Given the description of an element on the screen output the (x, y) to click on. 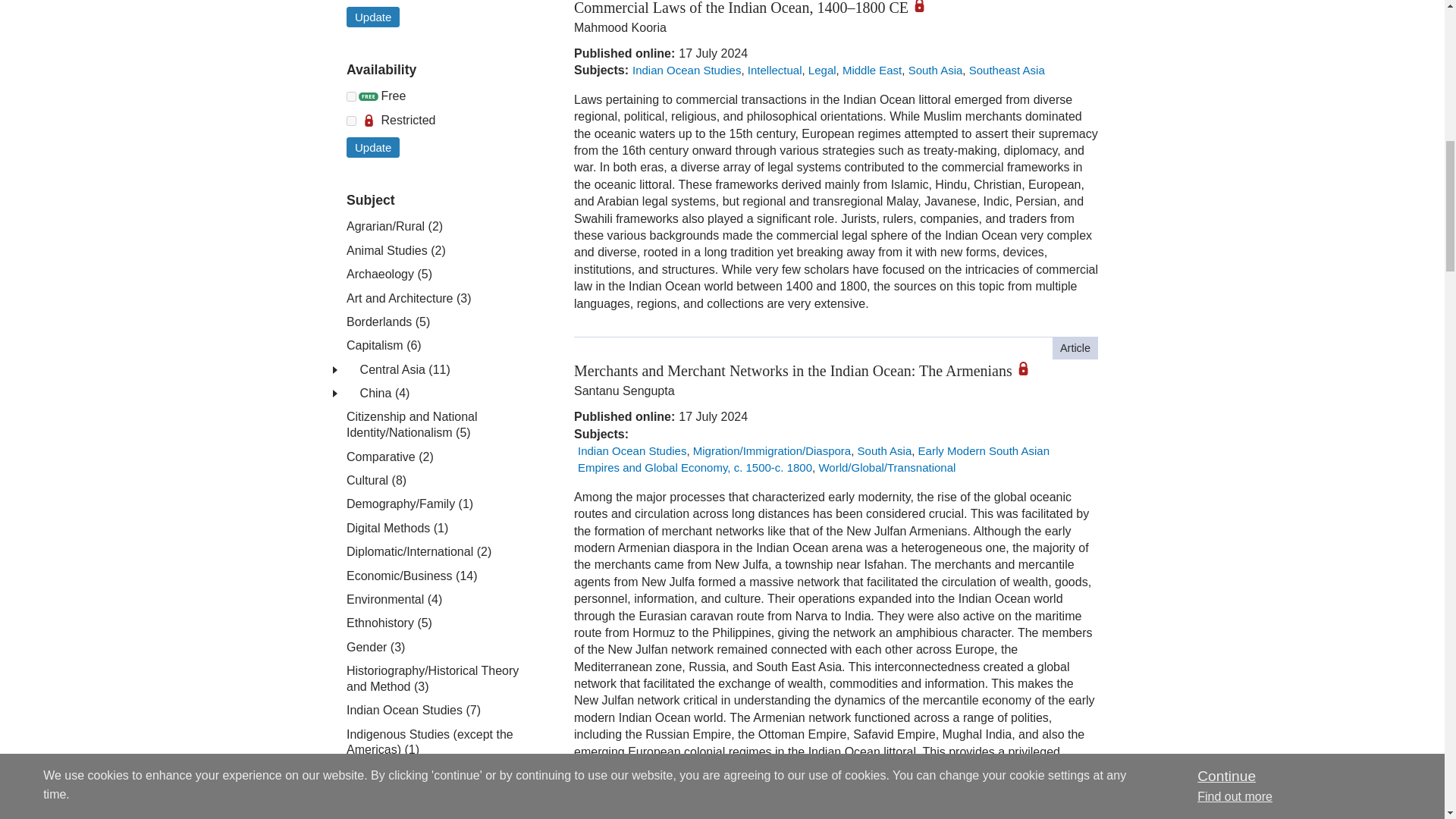
free (351, 96)
locked (351, 121)
